Given the description of an element on the screen output the (x, y) to click on. 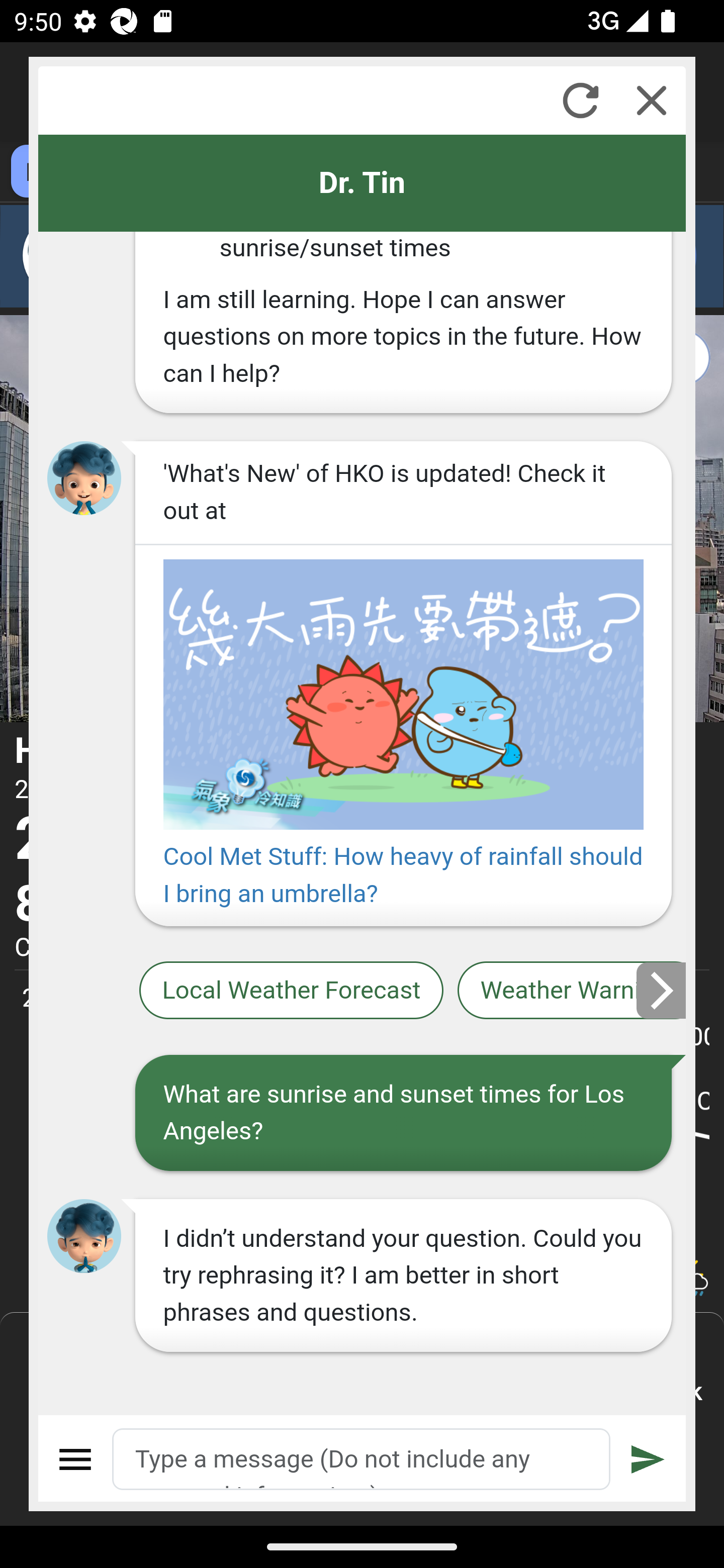
Refresh (580, 100)
Close (651, 100)
Local Weather Forecast (291, 990)
Weather Warnings (571, 990)
Next slide (661, 990)
Menu (75, 1458)
Submit (648, 1458)
